Given the description of an element on the screen output the (x, y) to click on. 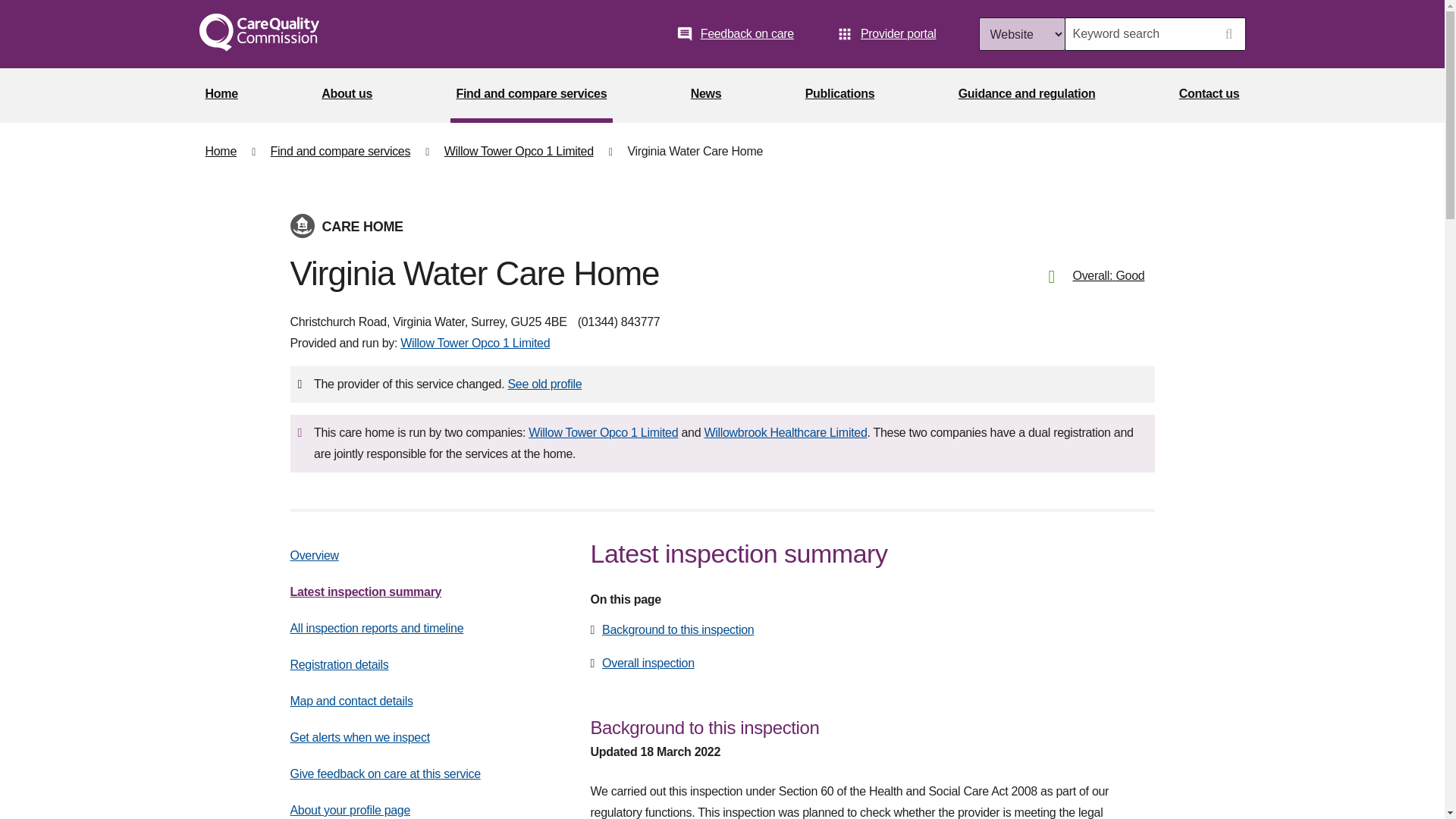
Willow Tower Opco 1 Limited (475, 342)
Registration details (338, 664)
Guidance and regulation (1027, 94)
Overview (313, 554)
All inspection reports and timeline (376, 627)
See old profile (543, 383)
Latest inspection summary (365, 591)
Find and compare services (530, 94)
Contact us (1209, 94)
Feedback on care (735, 33)
